Given the description of an element on the screen output the (x, y) to click on. 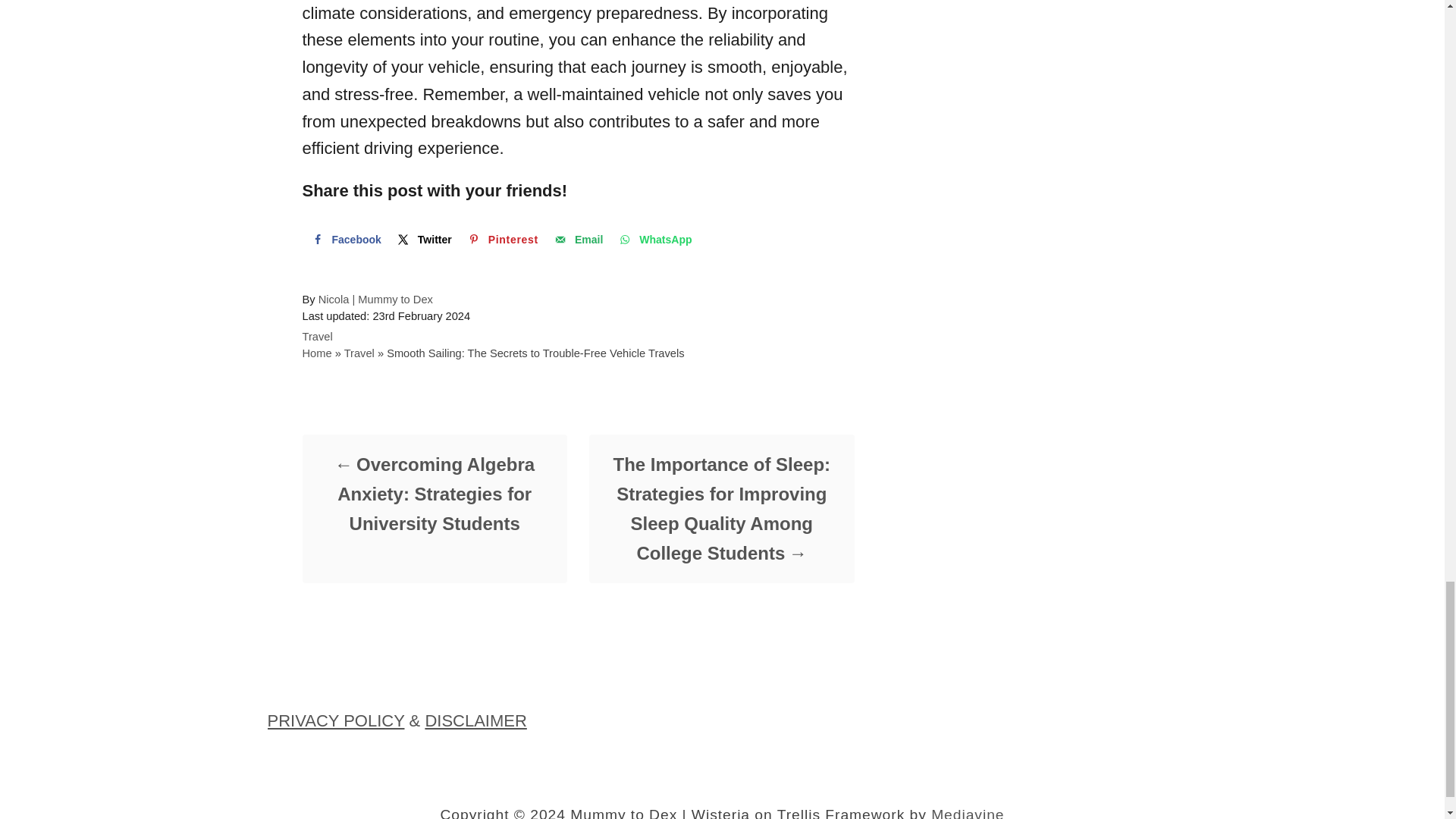
DISCLAIMER (475, 720)
Pinterest (501, 239)
PRIVACY POLICY (335, 720)
Save to Pinterest (501, 239)
Twitter (423, 239)
Share on Facebook (344, 239)
WhatsApp (654, 239)
Email (577, 239)
